Given the description of an element on the screen output the (x, y) to click on. 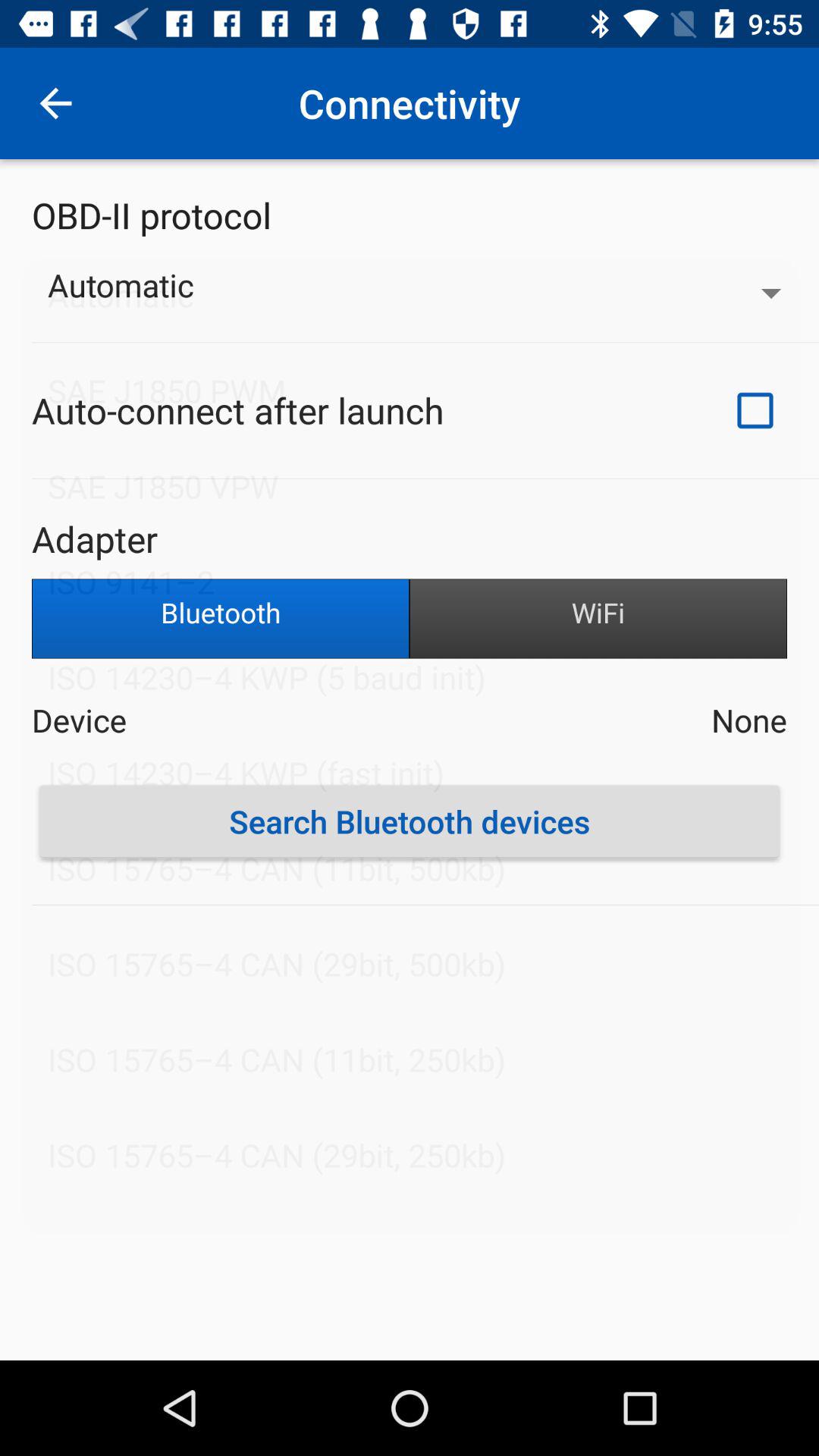
turn off the icon below the device item (409, 821)
